Given the description of an element on the screen output the (x, y) to click on. 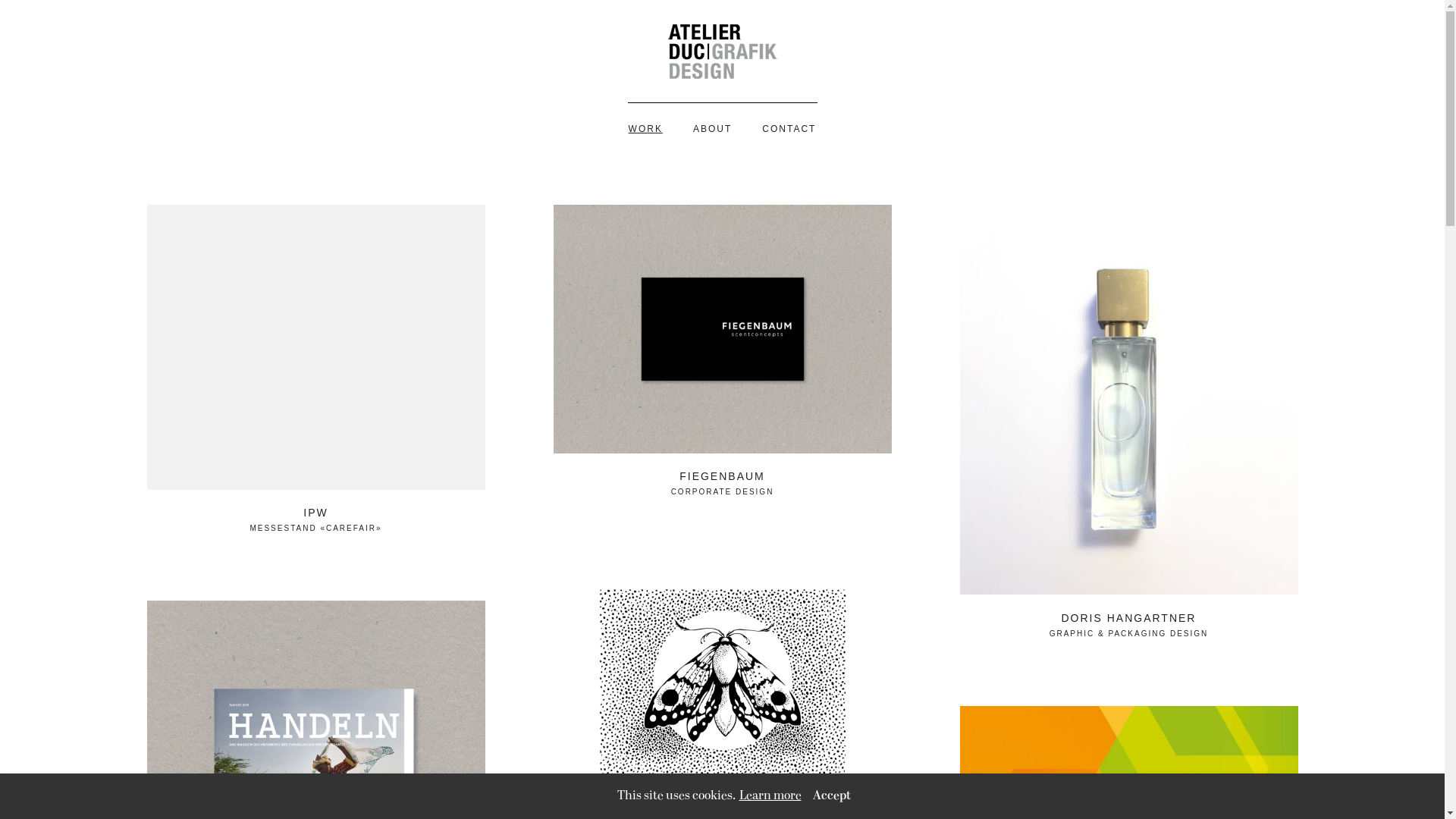
Accept Element type: text (831, 795)
allyou.net Element type: text (1420, 807)
CONTACT Element type: text (788, 129)
FIEGENBAUM
CORPORATE DESIGN Element type: text (722, 349)
Learn more Element type: text (770, 795)
WORK Element type: text (645, 129)
DORIS HANGARTNER
GRAPHIC & PACKAGING DESIGN Element type: text (1129, 420)
ABOUT Element type: text (712, 129)
